Given the description of an element on the screen output the (x, y) to click on. 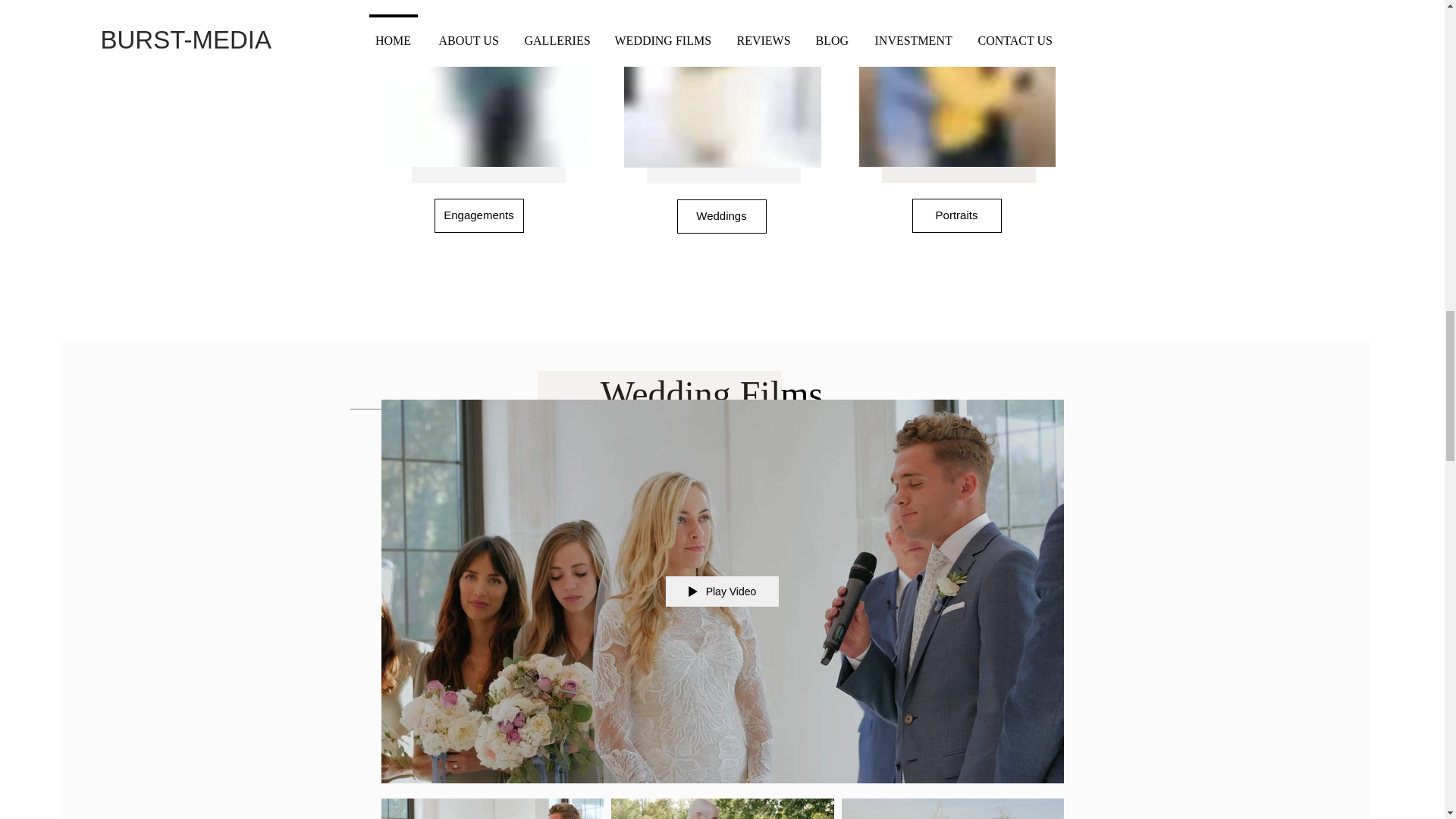
Engagements (477, 215)
Play Video (721, 591)
Weddings (721, 216)
Portraits (956, 215)
